Given the description of an element on the screen output the (x, y) to click on. 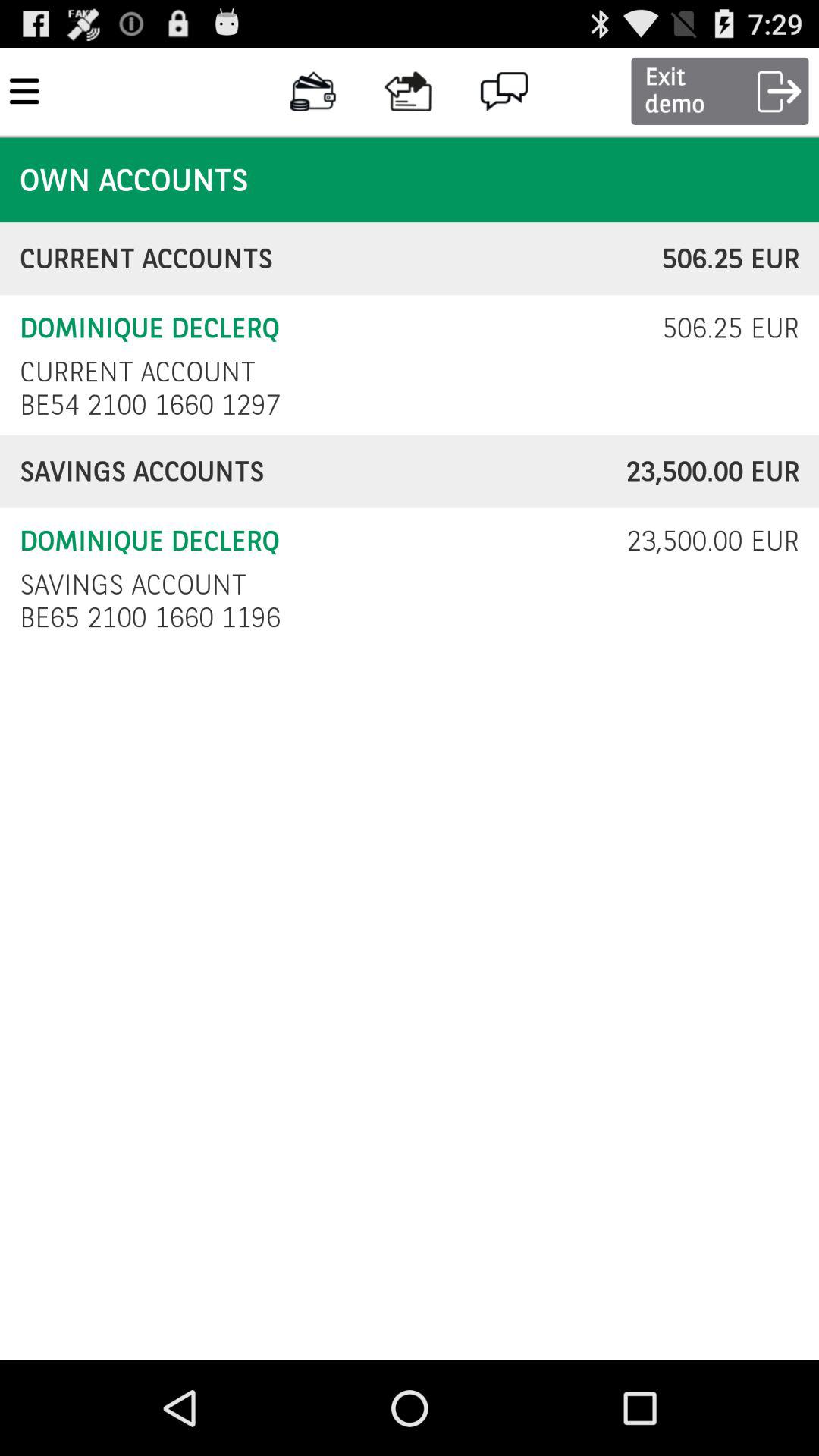
click the item below dominique declerq item (137, 371)
